Given the description of an element on the screen output the (x, y) to click on. 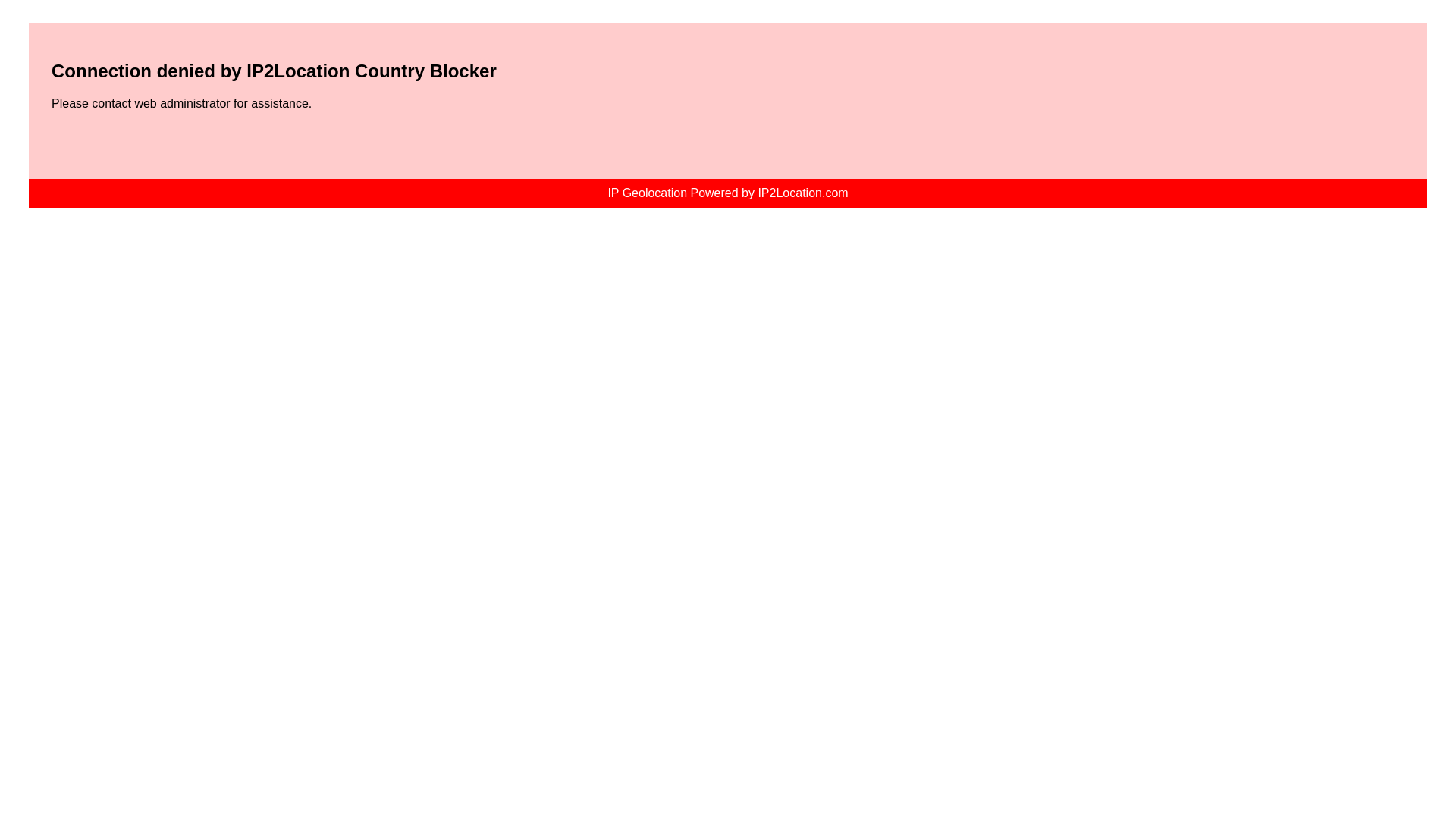
IP Geolocation Powered by IP2Location.com (727, 192)
